Given the description of an element on the screen output the (x, y) to click on. 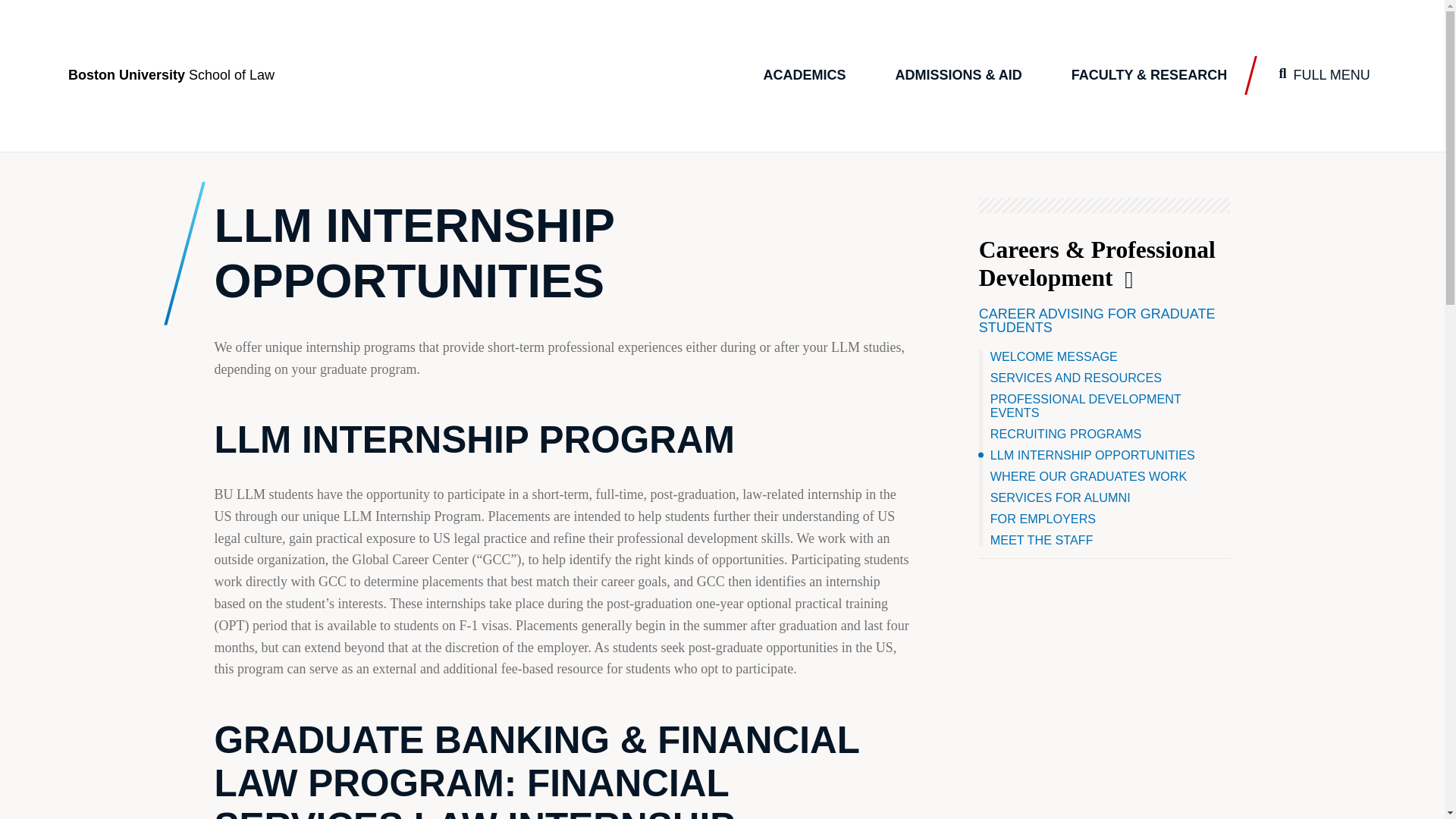
ACADEMICS (803, 75)
FULL MENU (1324, 75)
Boston University School of Law (171, 75)
